Given the description of an element on the screen output the (x, y) to click on. 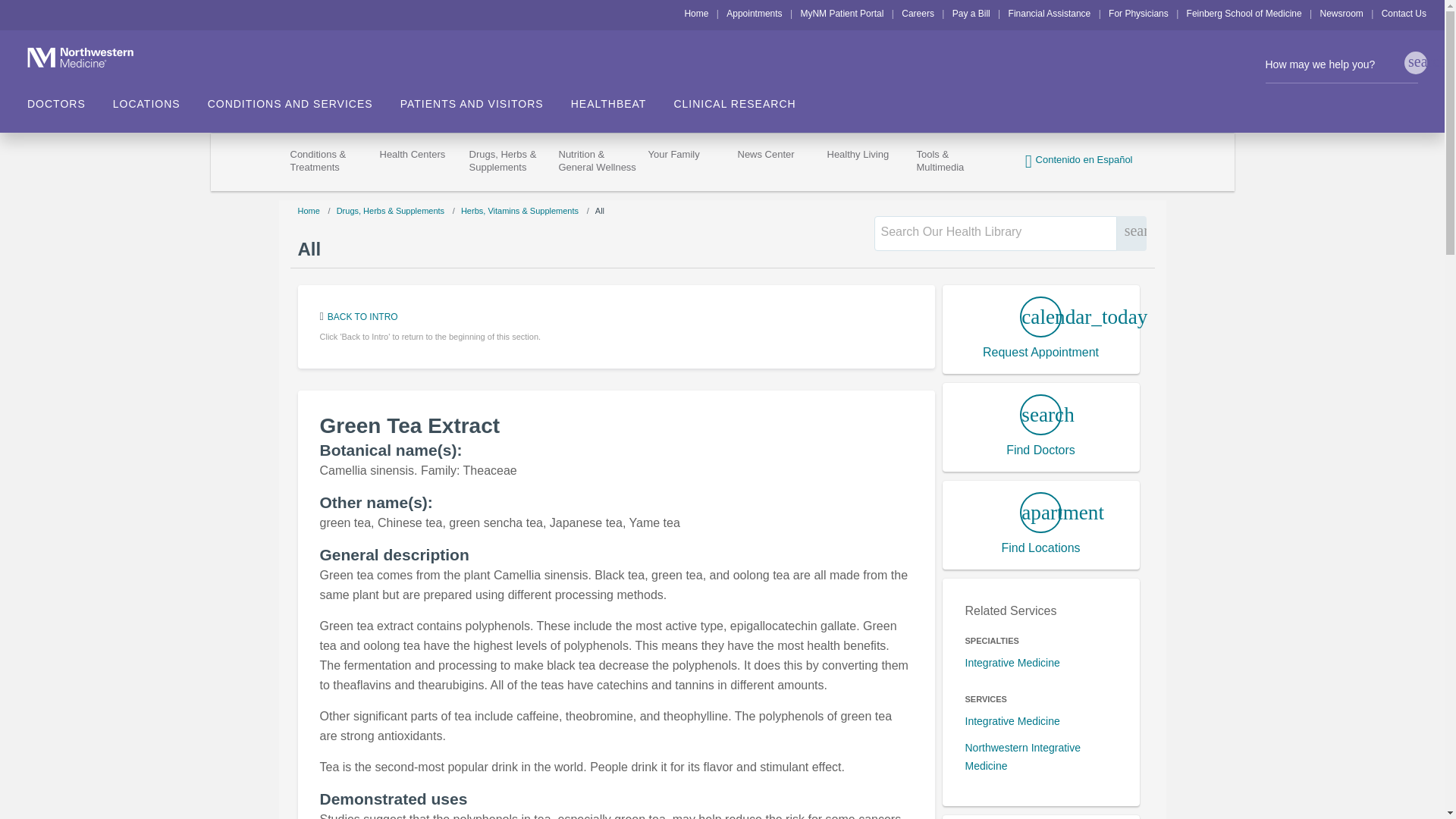
Northwestern Medicine (71, 57)
HEALTHBEAT (622, 99)
Skip to content (34, 9)
Locations (160, 99)
CONDITIONS AND SERVICES (304, 99)
search (1415, 62)
DOCTORS (70, 99)
Appointments (753, 13)
PATIENTS AND VISITORS (485, 99)
Conditions and Services (304, 99)
Financial Assistance (1049, 13)
Newsroom (1340, 13)
Feinberg School of Medicine - opens in a new window (1243, 13)
MyNM Patient Portal - opens in a new window (841, 13)
